Given the description of an element on the screen output the (x, y) to click on. 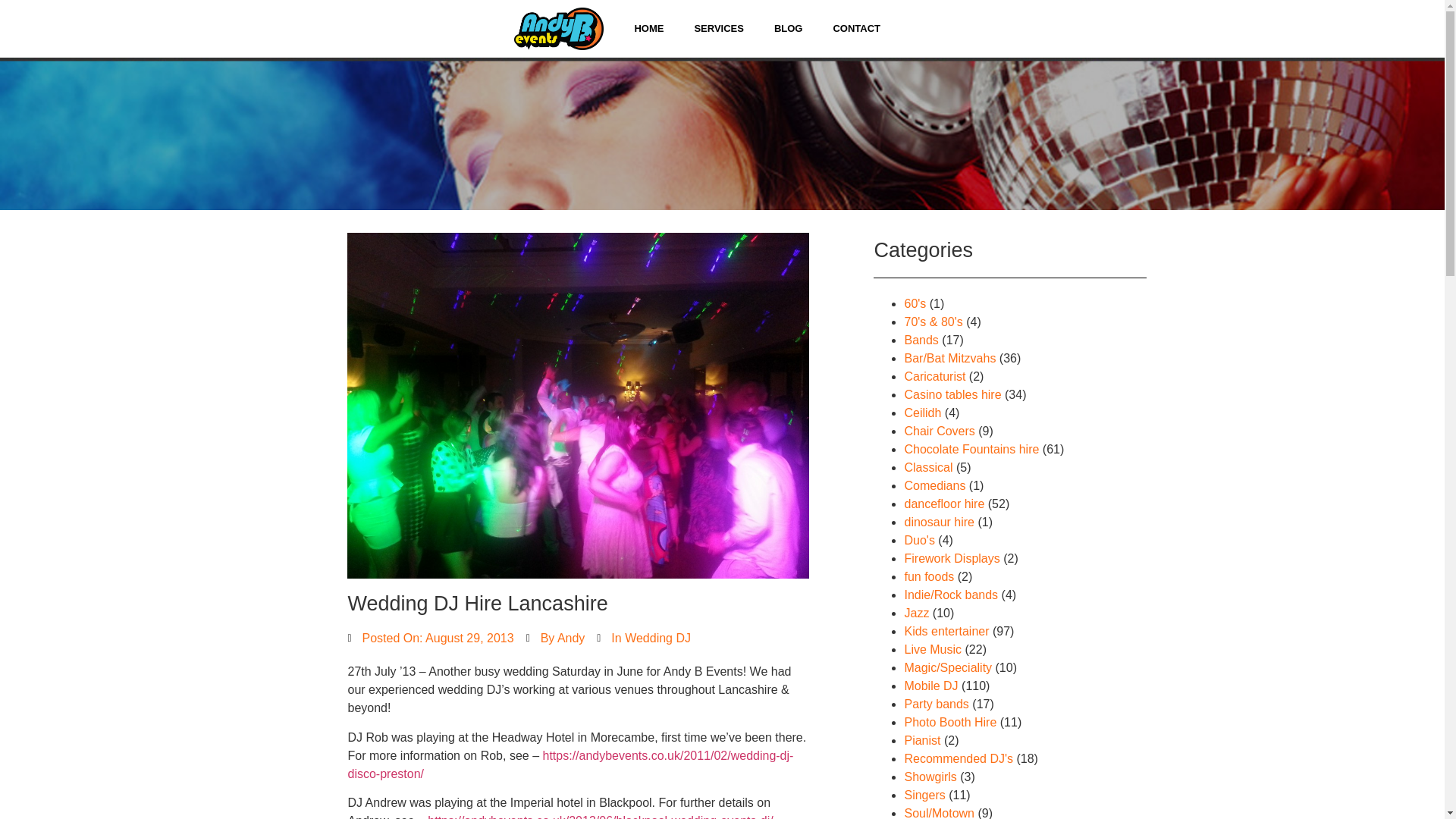
CONTACT (855, 28)
60's (915, 303)
Wedding DJ (657, 637)
HOME (648, 28)
SERVICES (718, 28)
Posted On: August 29, 2013 (430, 638)
BLOG (788, 28)
